Given the description of an element on the screen output the (x, y) to click on. 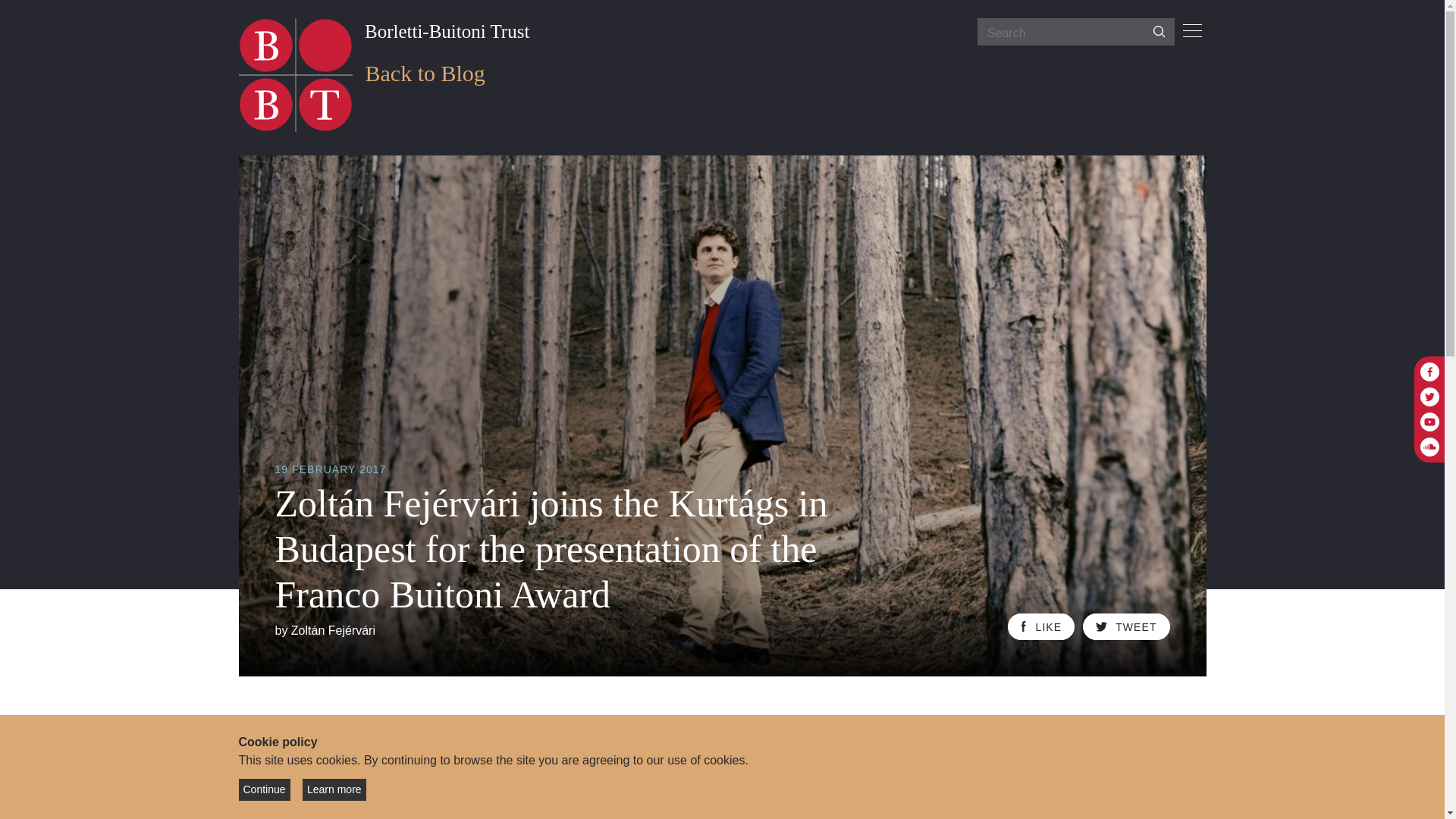
Open navigation (1192, 31)
Search (1159, 33)
TWEET (1126, 626)
LIKE (1040, 626)
Back to Blog (424, 72)
